Given the description of an element on the screen output the (x, y) to click on. 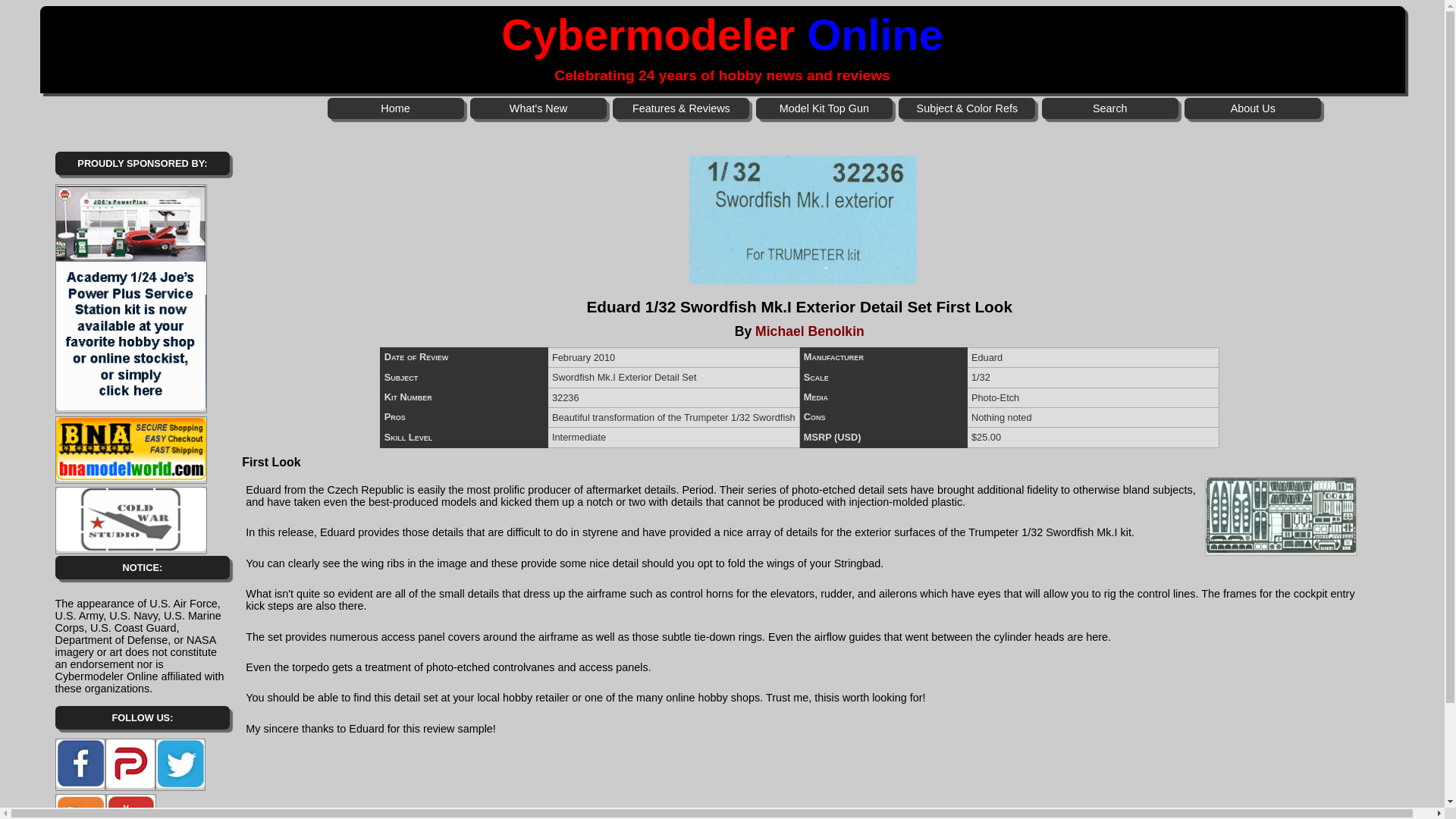
About Us (1252, 107)
Home (395, 107)
Search (1109, 107)
Model Kit Top Gun (823, 107)
What's New (538, 107)
Michael Benolkin (809, 331)
